Given the description of an element on the screen output the (x, y) to click on. 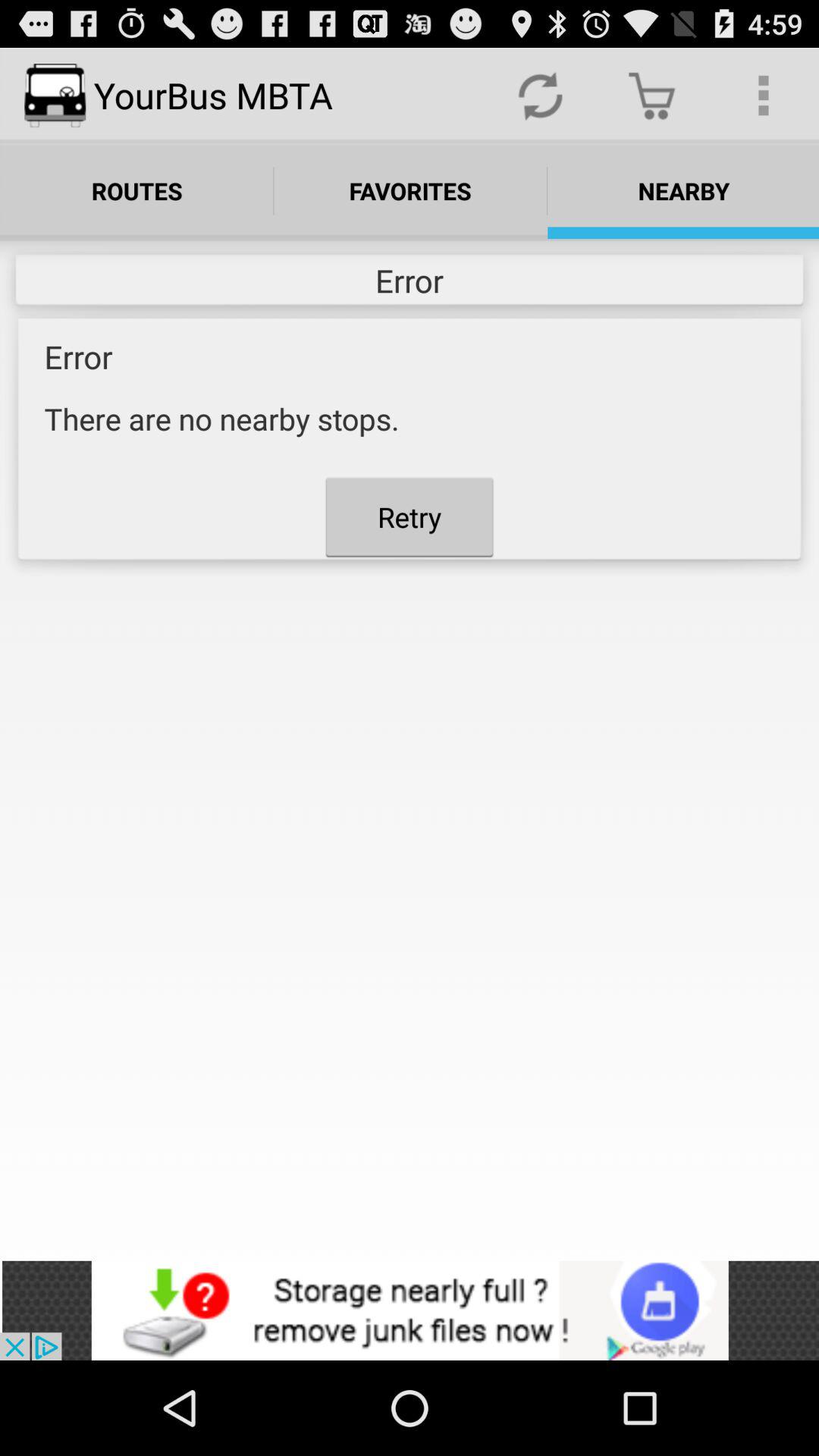
open advertisement (409, 1310)
